Given the description of an element on the screen output the (x, y) to click on. 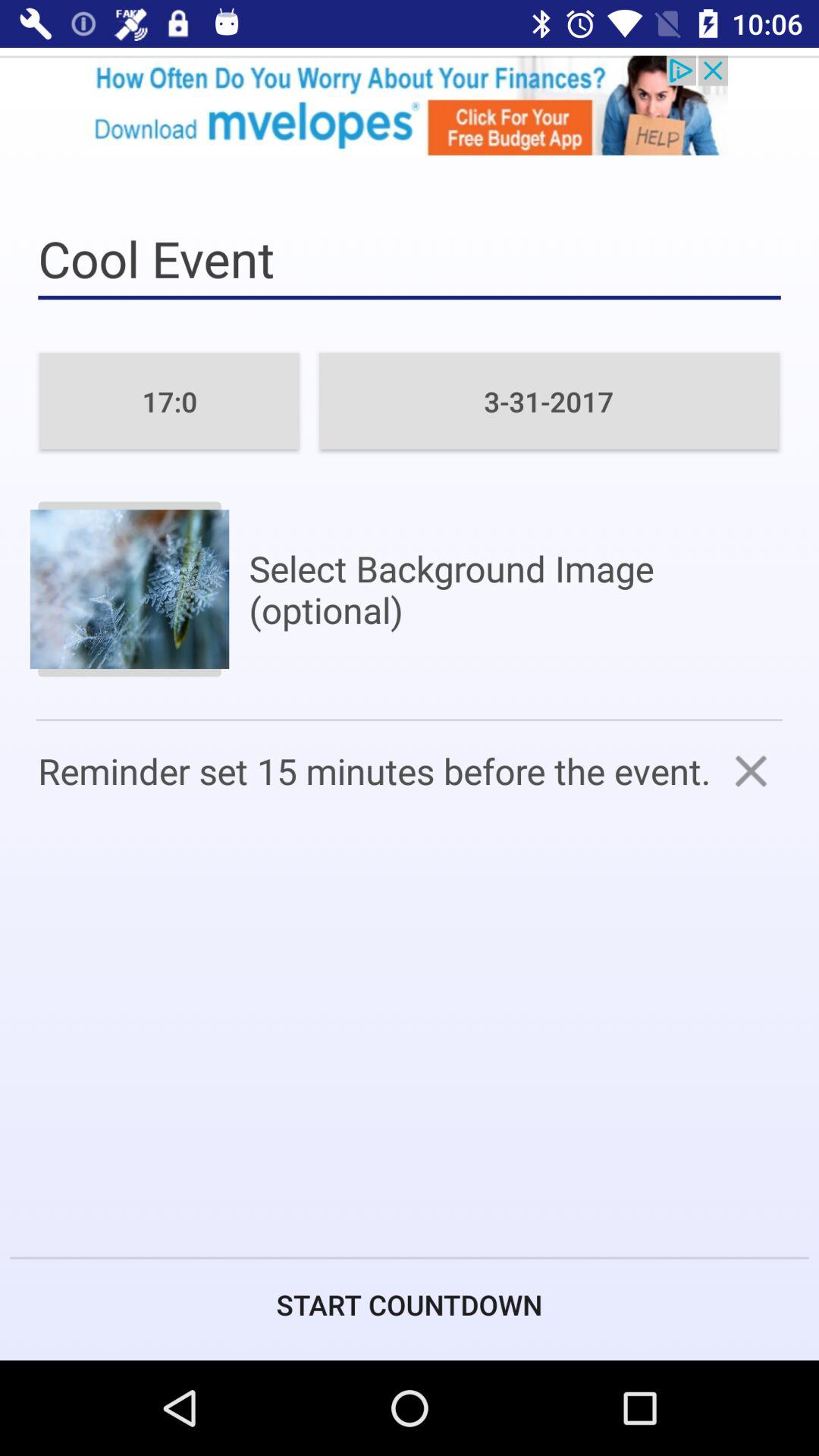
close note (750, 770)
